Given the description of an element on the screen output the (x, y) to click on. 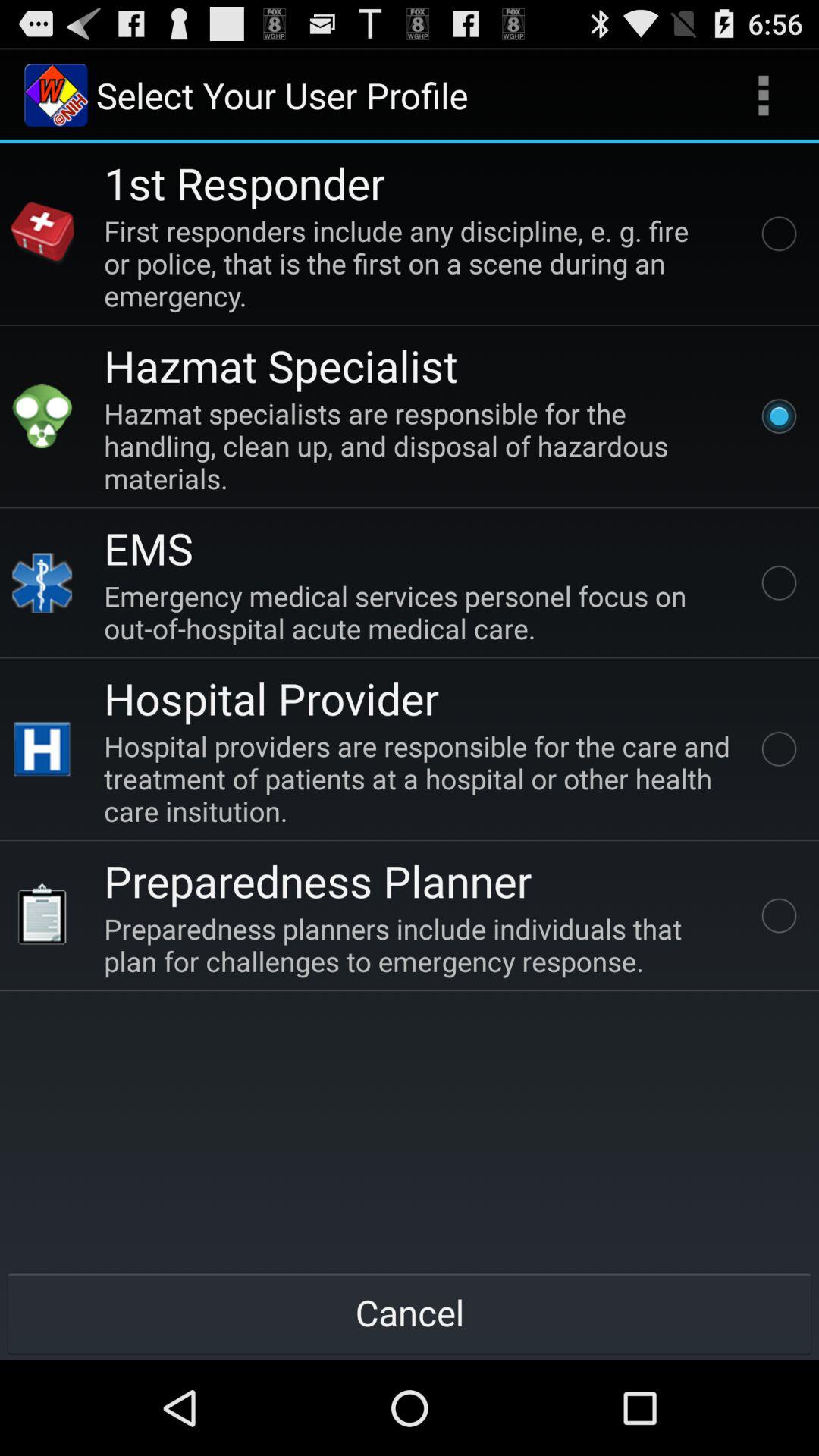
open item below select your user item (244, 182)
